Given the description of an element on the screen output the (x, y) to click on. 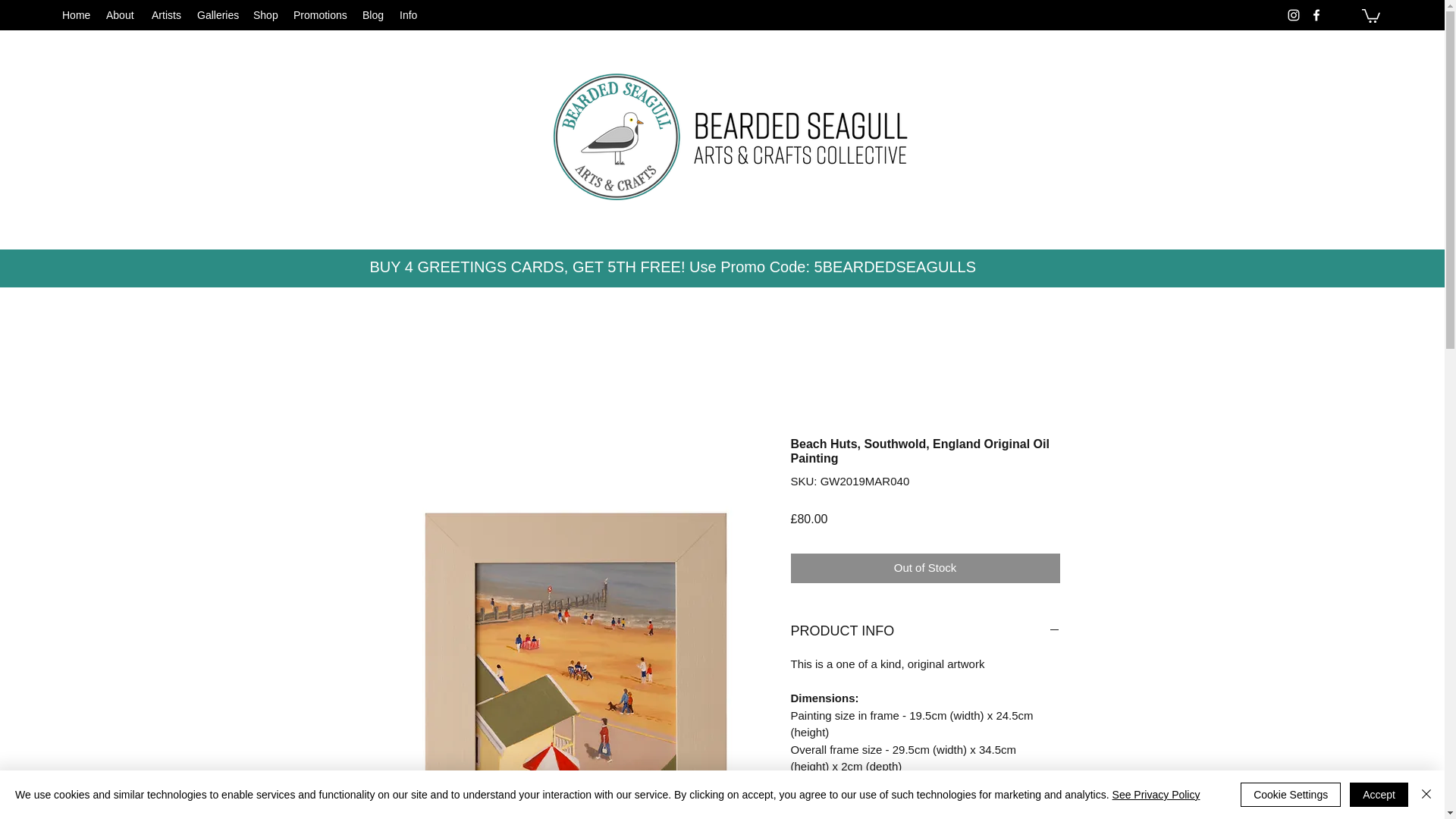
Artists (166, 15)
Home (77, 15)
About (121, 15)
Out of Stock (924, 568)
PRODUCT INFO (924, 631)
Galleries (217, 15)
Promotions (320, 15)
Info (408, 15)
Blog (373, 15)
Shop (265, 15)
